Given the description of an element on the screen output the (x, y) to click on. 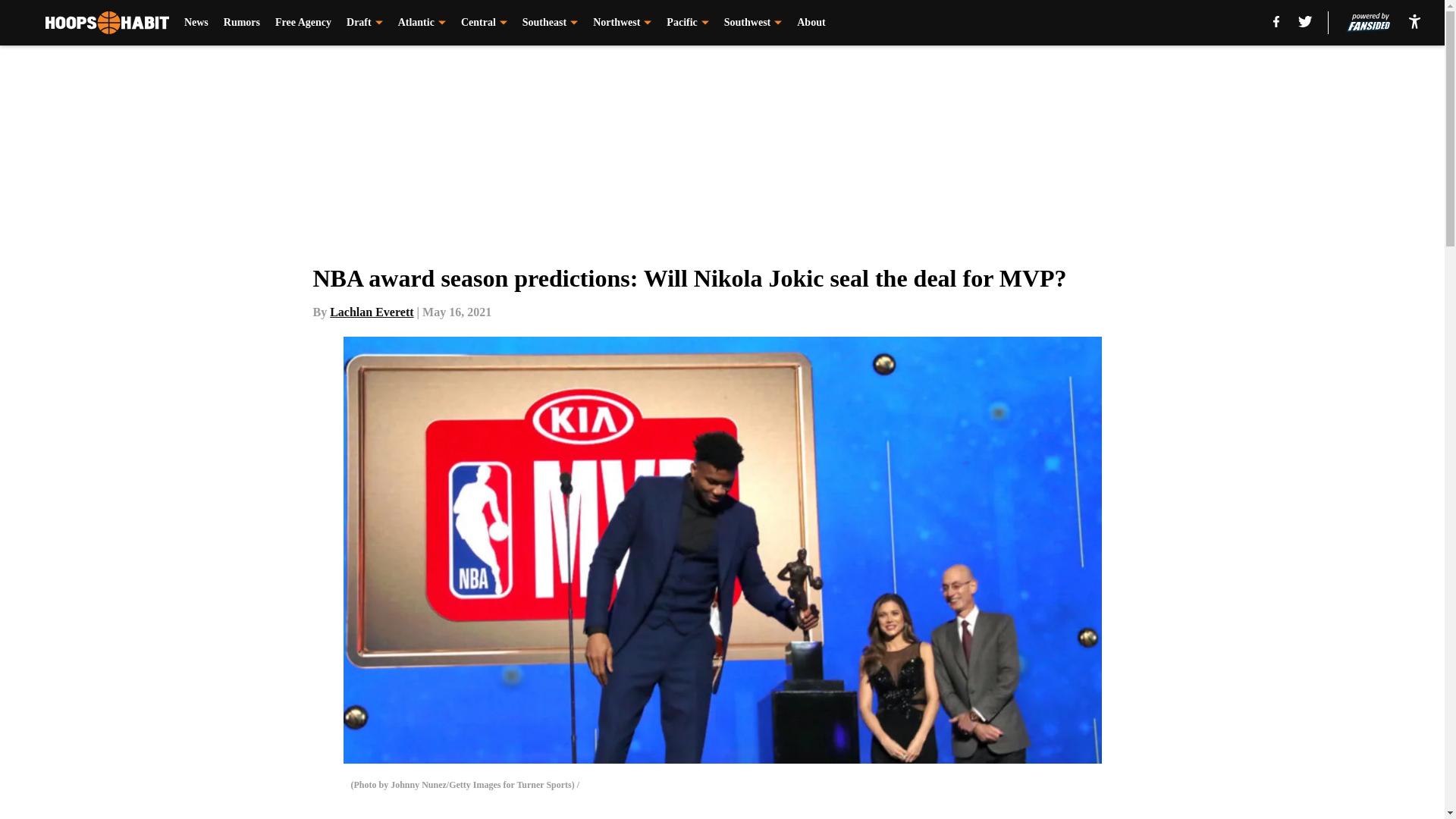
News (196, 22)
Southeast (550, 22)
Atlantic (421, 22)
Draft (364, 22)
Northwest (621, 22)
Rumors (242, 22)
Free Agency (303, 22)
Central (483, 22)
